Given the description of an element on the screen output the (x, y) to click on. 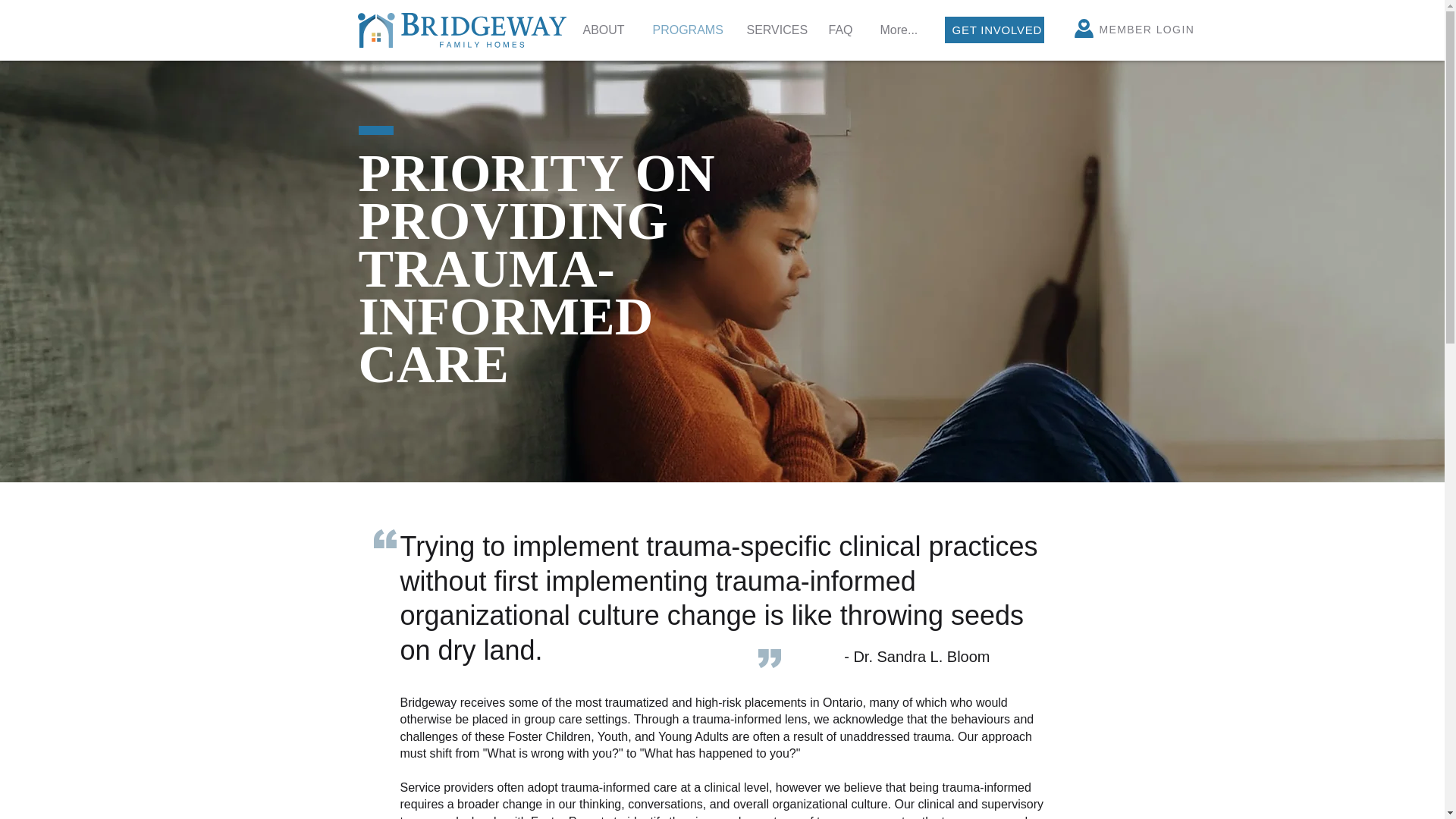
PROGRAMS (688, 29)
GET INVOLVED (993, 29)
SERVICES (775, 29)
ABOUT (607, 29)
GET INVOLVED (996, 29)
MEMBER LOGIN (1151, 29)
FAQ (842, 29)
